Given the description of an element on the screen output the (x, y) to click on. 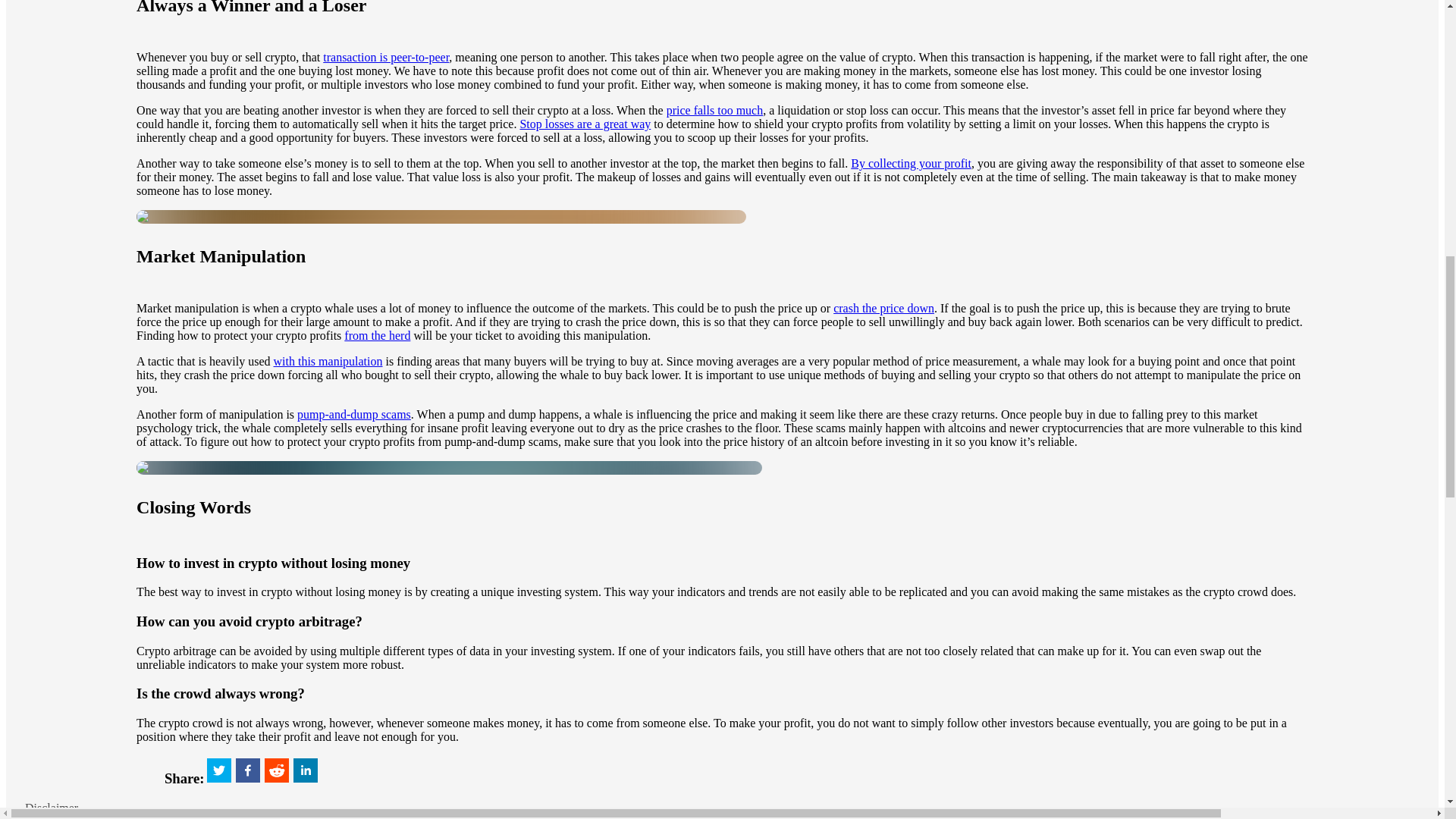
pump-and-dump scams (353, 413)
price falls too much (714, 110)
transaction is peer-to-peer (385, 56)
crash the price down (883, 308)
from the herd (376, 335)
By collecting your profit (910, 163)
with this manipulation (327, 360)
Stop losses are a great way (584, 123)
